Given the description of an element on the screen output the (x, y) to click on. 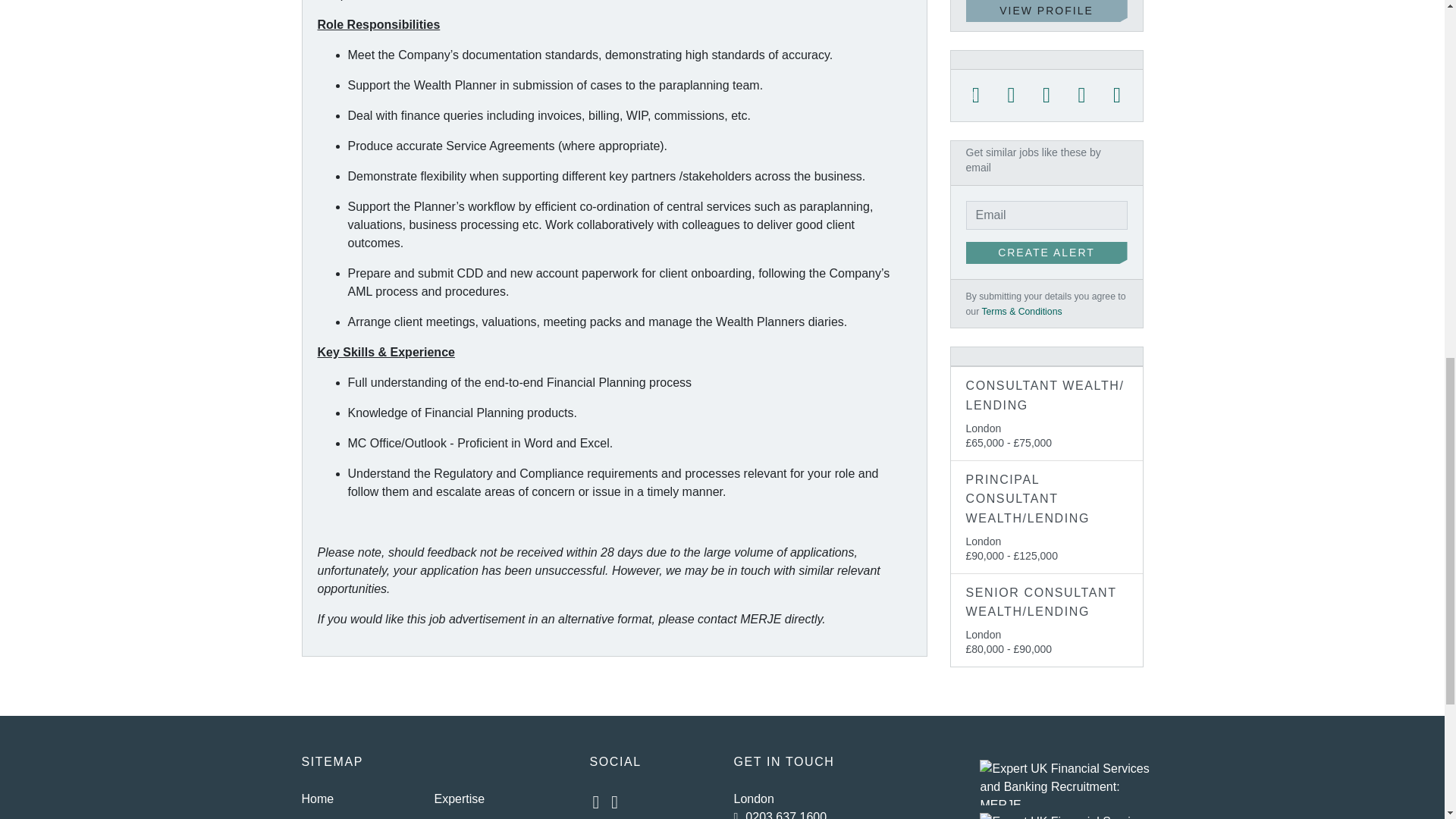
WhatsApp (1081, 95)
LinkedIn (1045, 95)
CREATE ALERT (1046, 252)
Facebook (1011, 95)
Twitter (976, 95)
VIEW PROFILE (1046, 11)
Email (1117, 95)
